Given the description of an element on the screen output the (x, y) to click on. 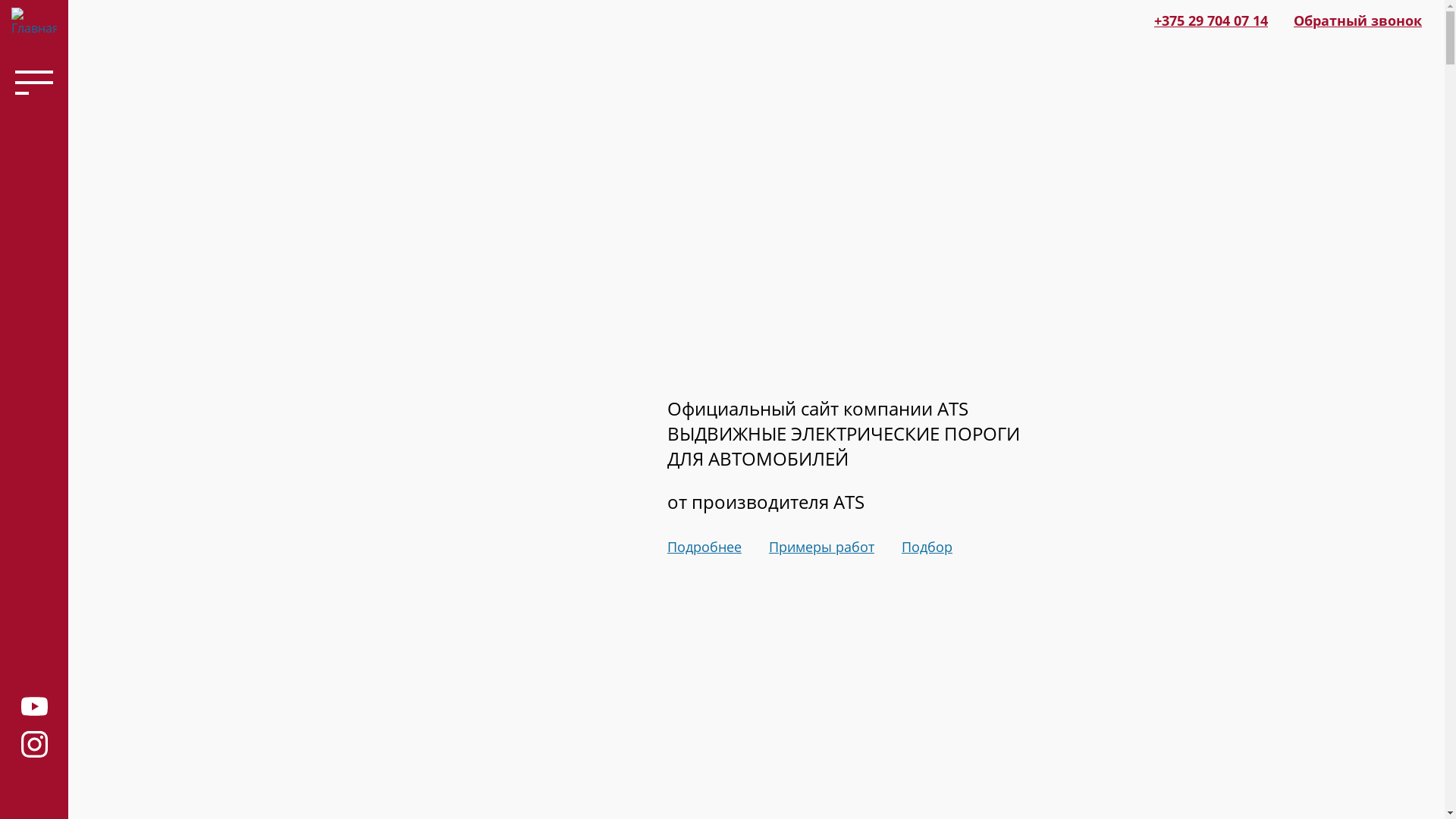
+375 29 704 07 14 Element type: text (1210, 20)
